Given the description of an element on the screen output the (x, y) to click on. 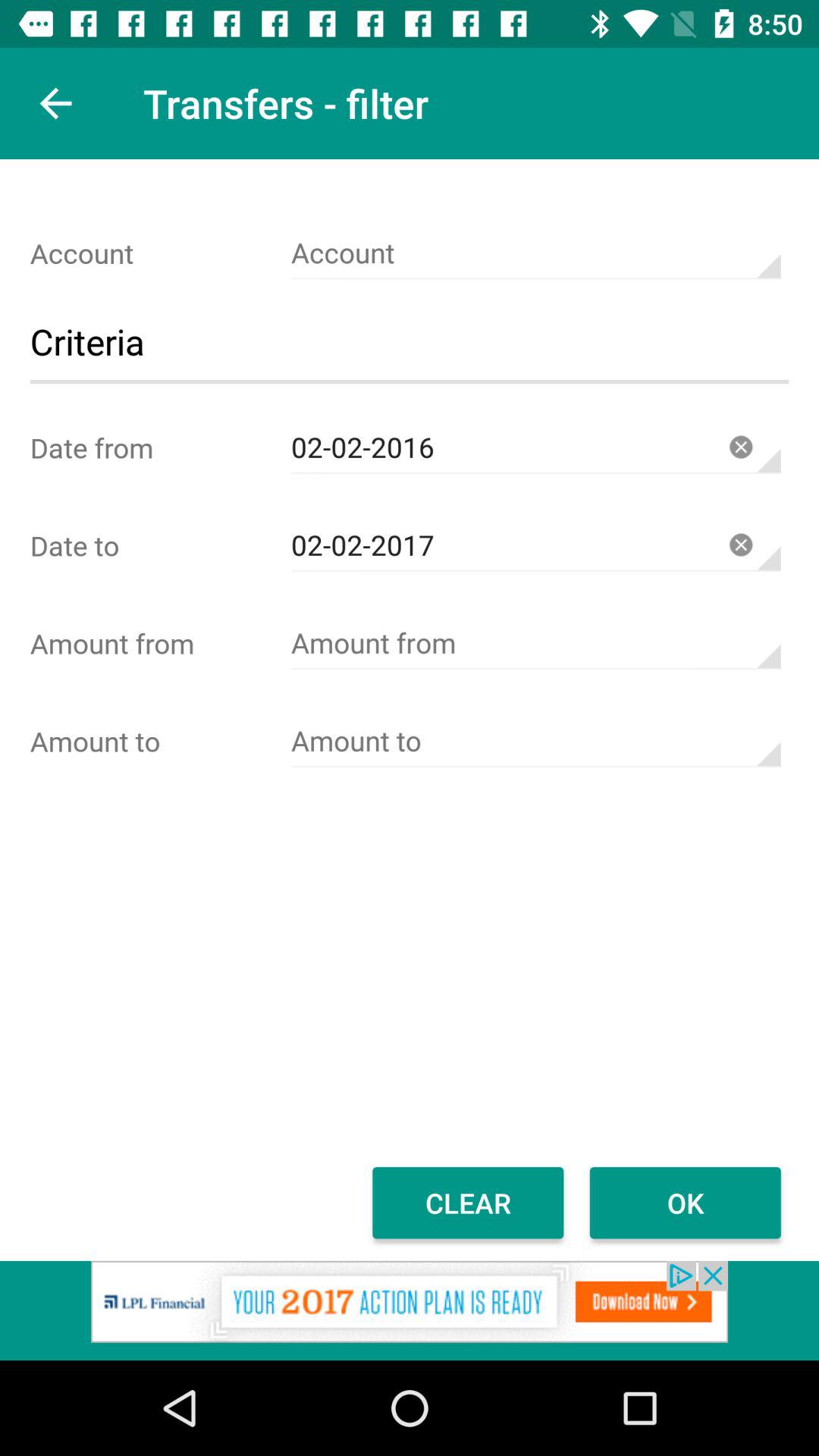
number input (535, 741)
